Given the description of an element on the screen output the (x, y) to click on. 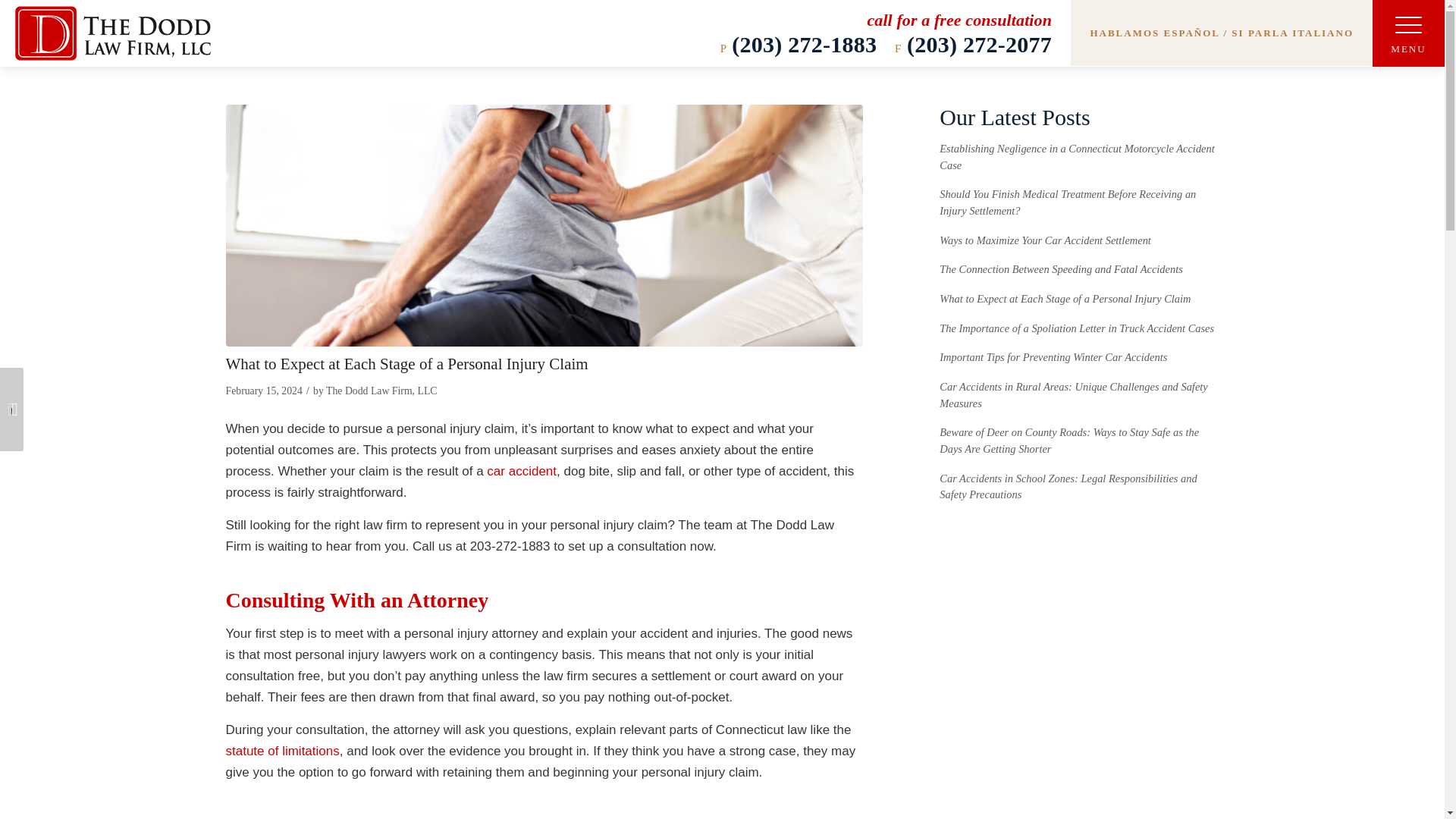
Posts by The Dodd Law Firm, LLC (381, 390)
